Given the description of an element on the screen output the (x, y) to click on. 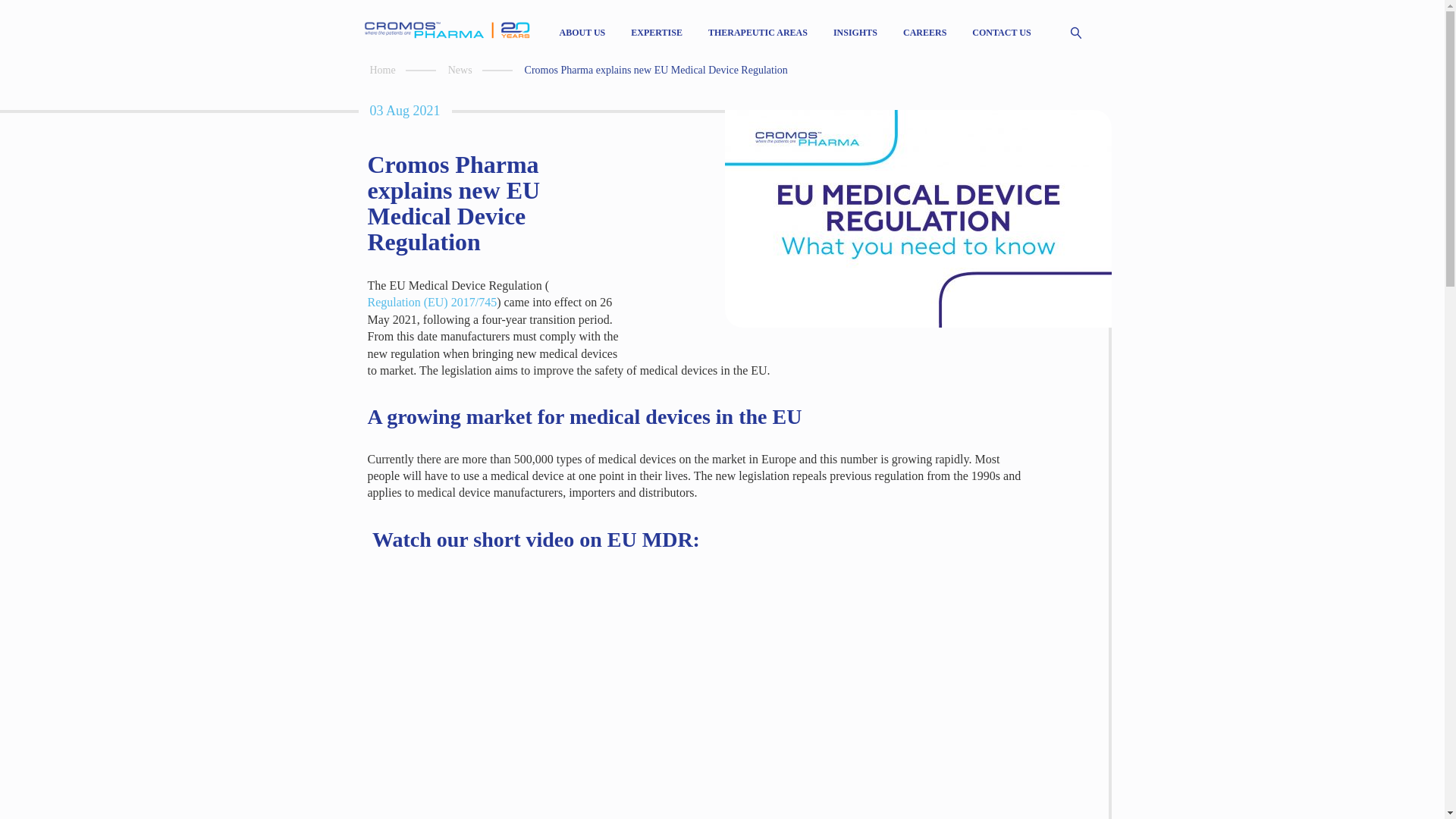
ABOUT US (582, 32)
INSIGHTS (854, 32)
EXPERTISE (656, 32)
Cromos Pharma on EU Medical Device Regulation 2021 (579, 692)
CAREERS (924, 32)
CONTACT US (1001, 32)
THERAPEUTIC AREAS (757, 32)
